Given the description of an element on the screen output the (x, y) to click on. 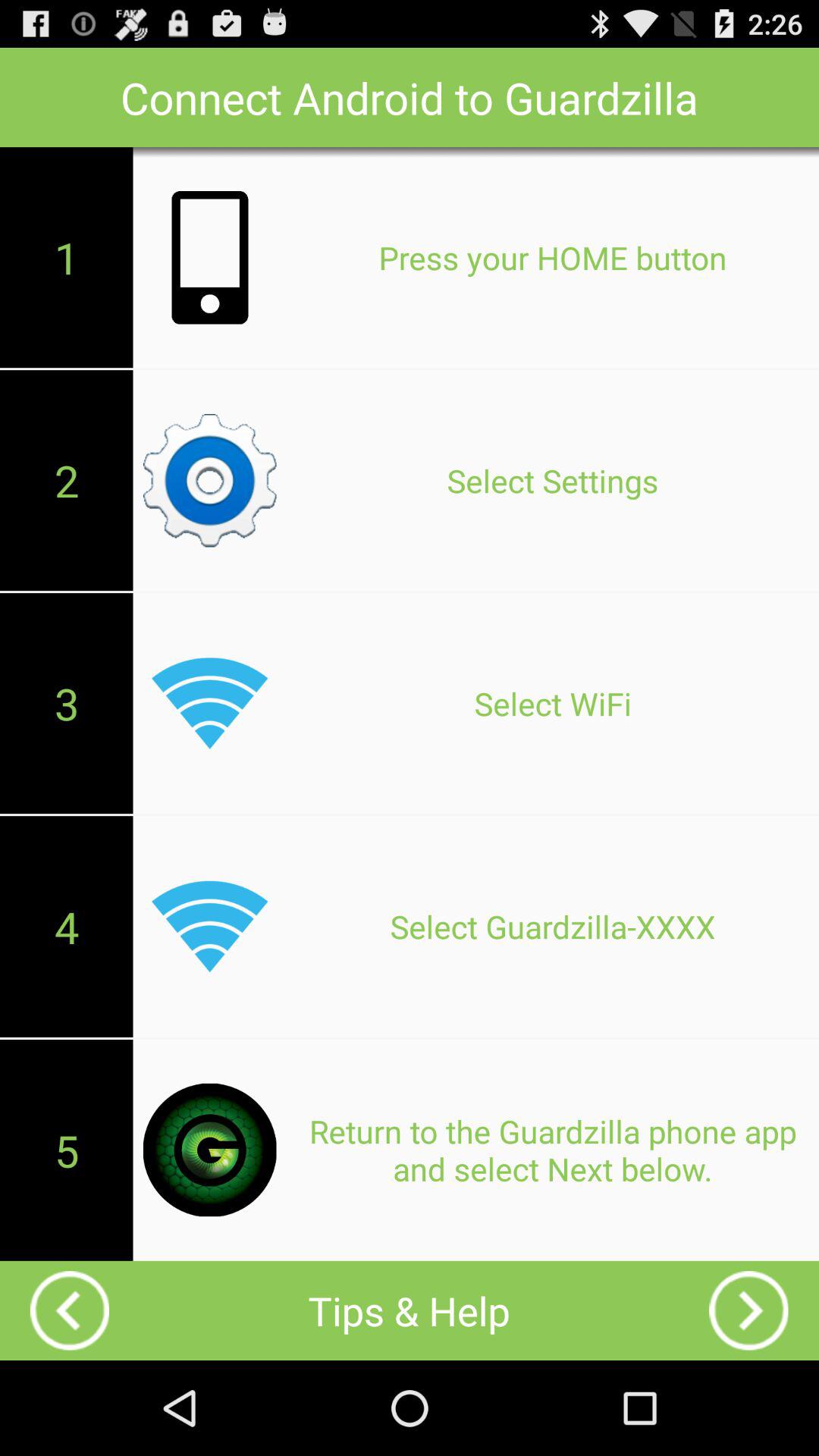
view more tips (748, 1310)
